Given the description of an element on the screen output the (x, y) to click on. 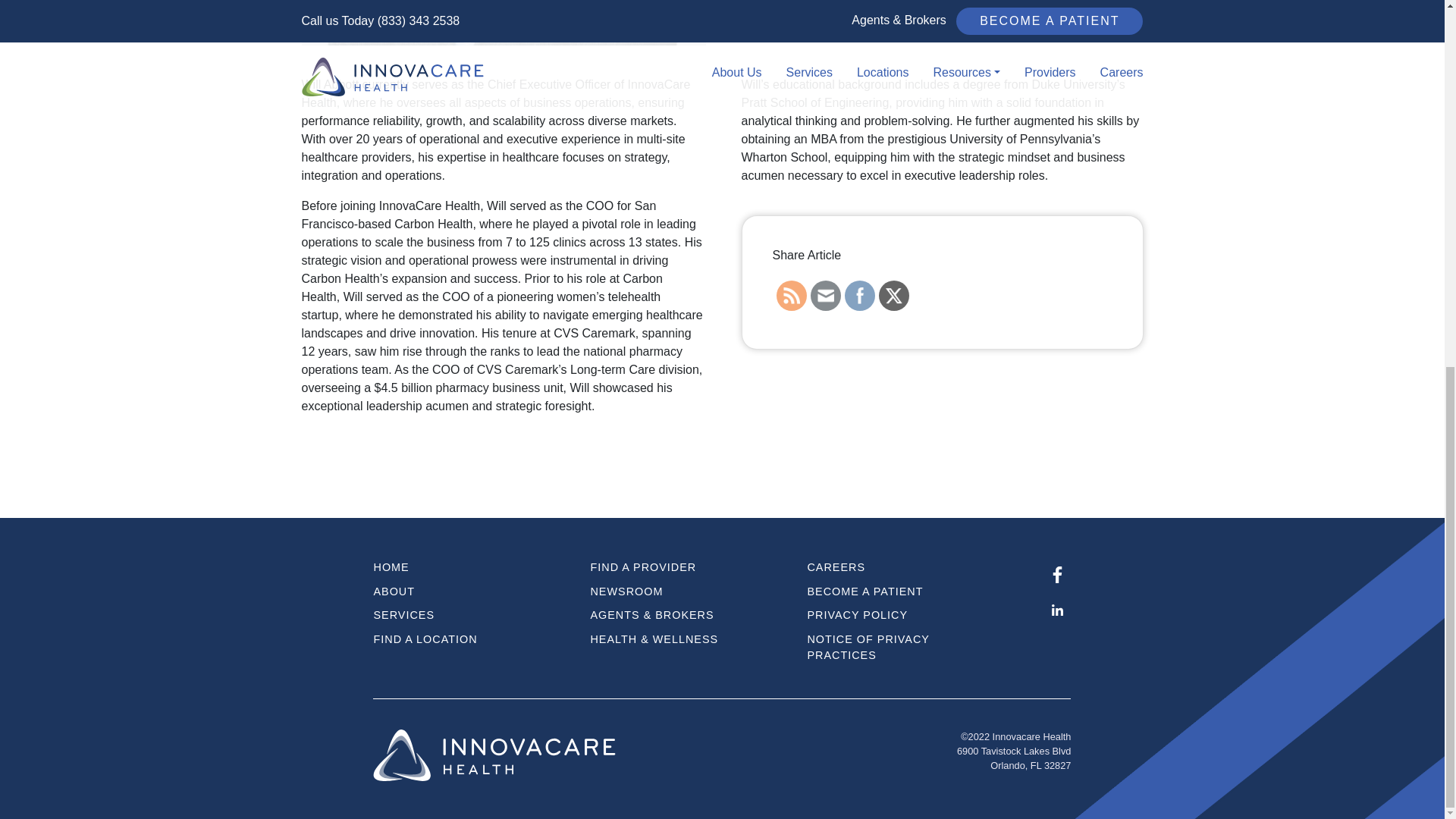
NEWSROOM (686, 591)
FIND A LOCATION (469, 639)
RSS (791, 295)
Facebook (858, 295)
SERVICES (469, 615)
HOME (469, 567)
FIND A PROVIDER (686, 567)
Follow by Email (825, 295)
ABOUT (469, 591)
